Given the description of an element on the screen output the (x, y) to click on. 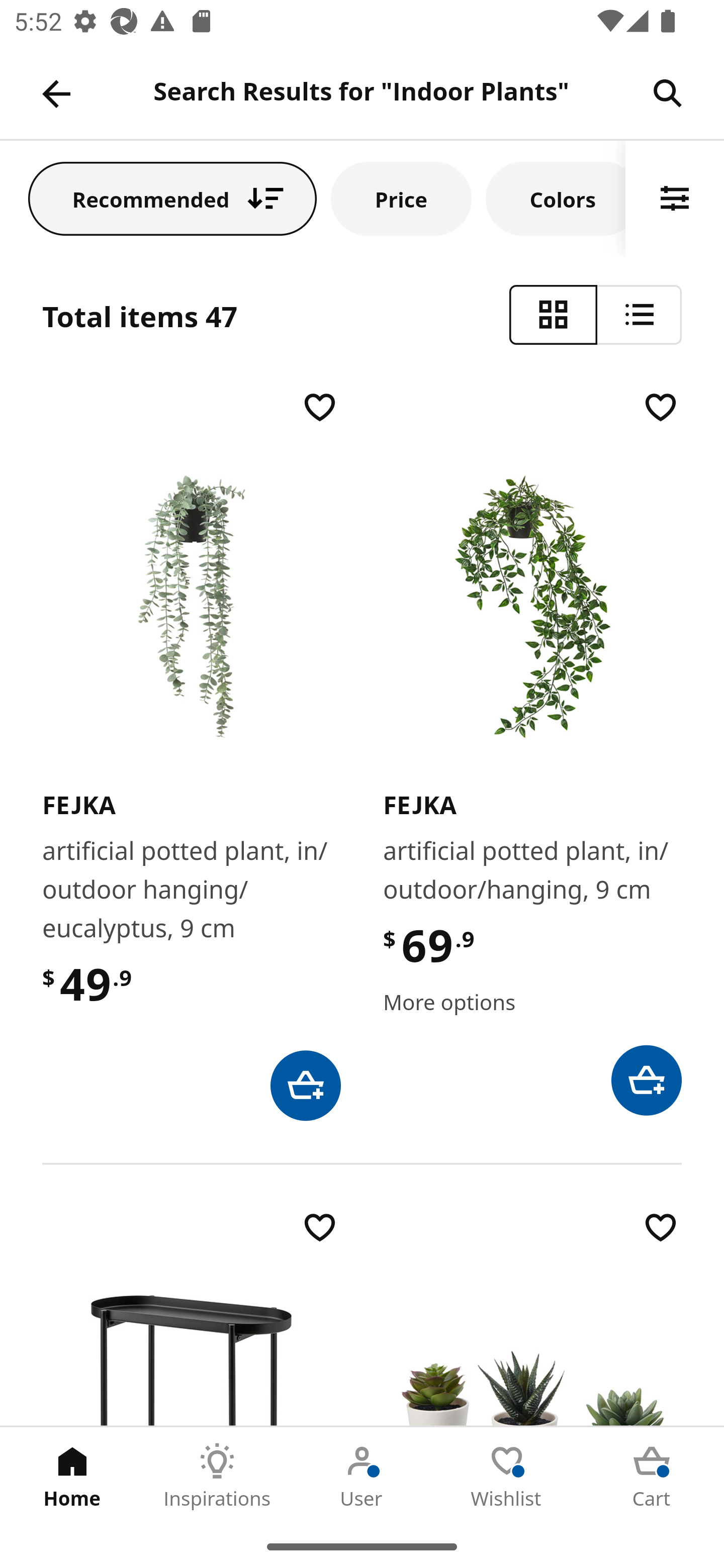
Recommended (172, 198)
Price (400, 198)
Colors (555, 198)
Home
Tab 1 of 5 (72, 1476)
Inspirations
Tab 2 of 5 (216, 1476)
